Given the description of an element on the screen output the (x, y) to click on. 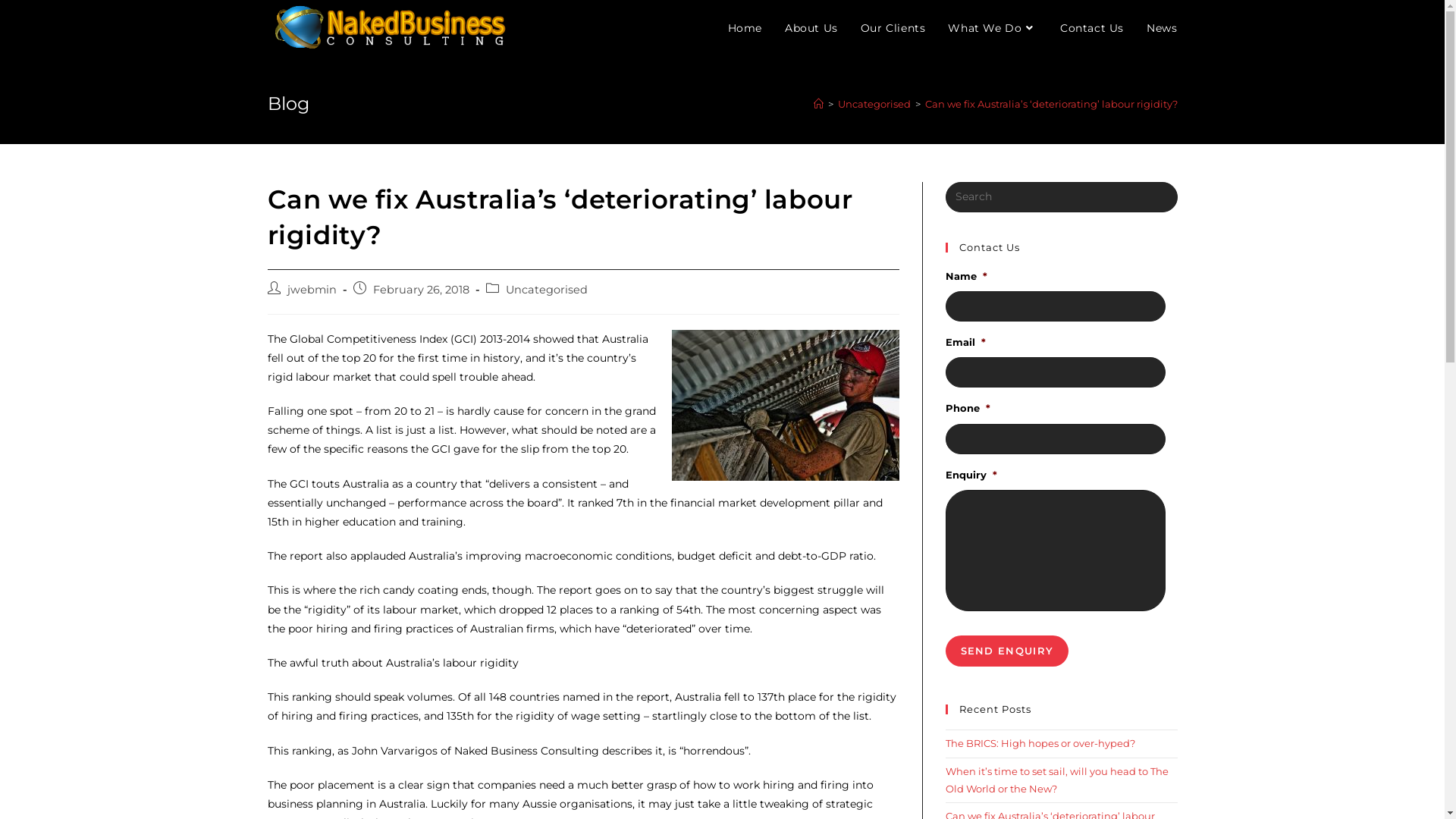
Contact Us Element type: text (1091, 28)
Home Element type: text (744, 28)
The BRICS: High hopes or over-hyped? Element type: text (1039, 743)
Send Enquiry Element type: text (1006, 650)
jwebmin Element type: text (310, 289)
Our Clients Element type: text (893, 28)
About Us Element type: text (811, 28)
Uncategorised Element type: text (873, 103)
Uncategorised Element type: text (545, 289)
News Element type: text (1161, 28)
What We Do Element type: text (992, 28)
